Given the description of an element on the screen output the (x, y) to click on. 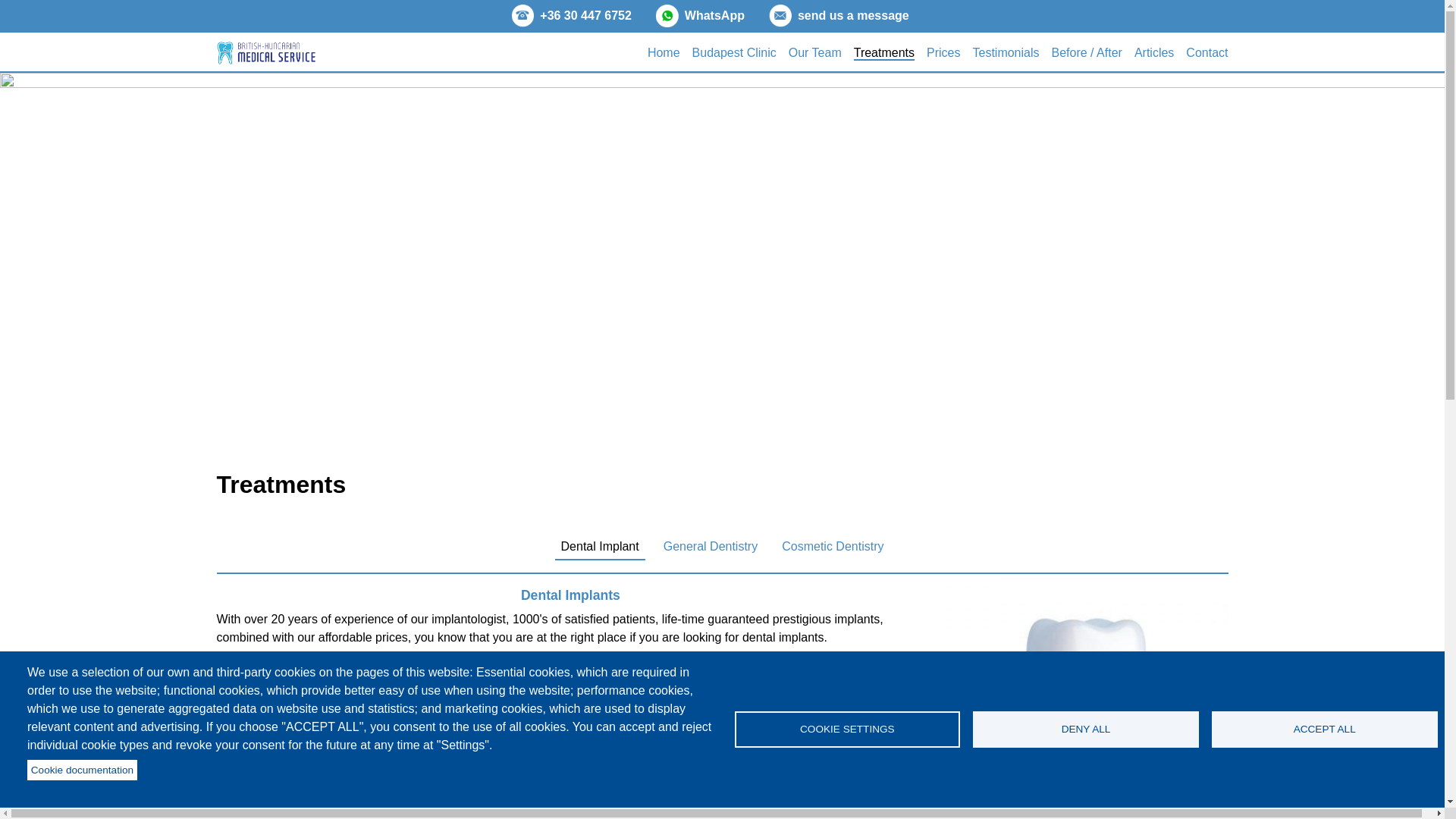
Our Team (815, 51)
Full Mouth Reconstruction (805, 717)
WhatsApp (714, 15)
Multiple Implants (569, 717)
Prices (942, 51)
Single Implant (333, 717)
Cosmetic Dentistry (832, 547)
Computerised Planning, Guided Implantation (805, 803)
Contact (1206, 51)
General Dentistry (711, 547)
Dental Implant (599, 547)
send us a message (852, 15)
Home (663, 51)
Treatments (883, 52)
